Given the description of an element on the screen output the (x, y) to click on. 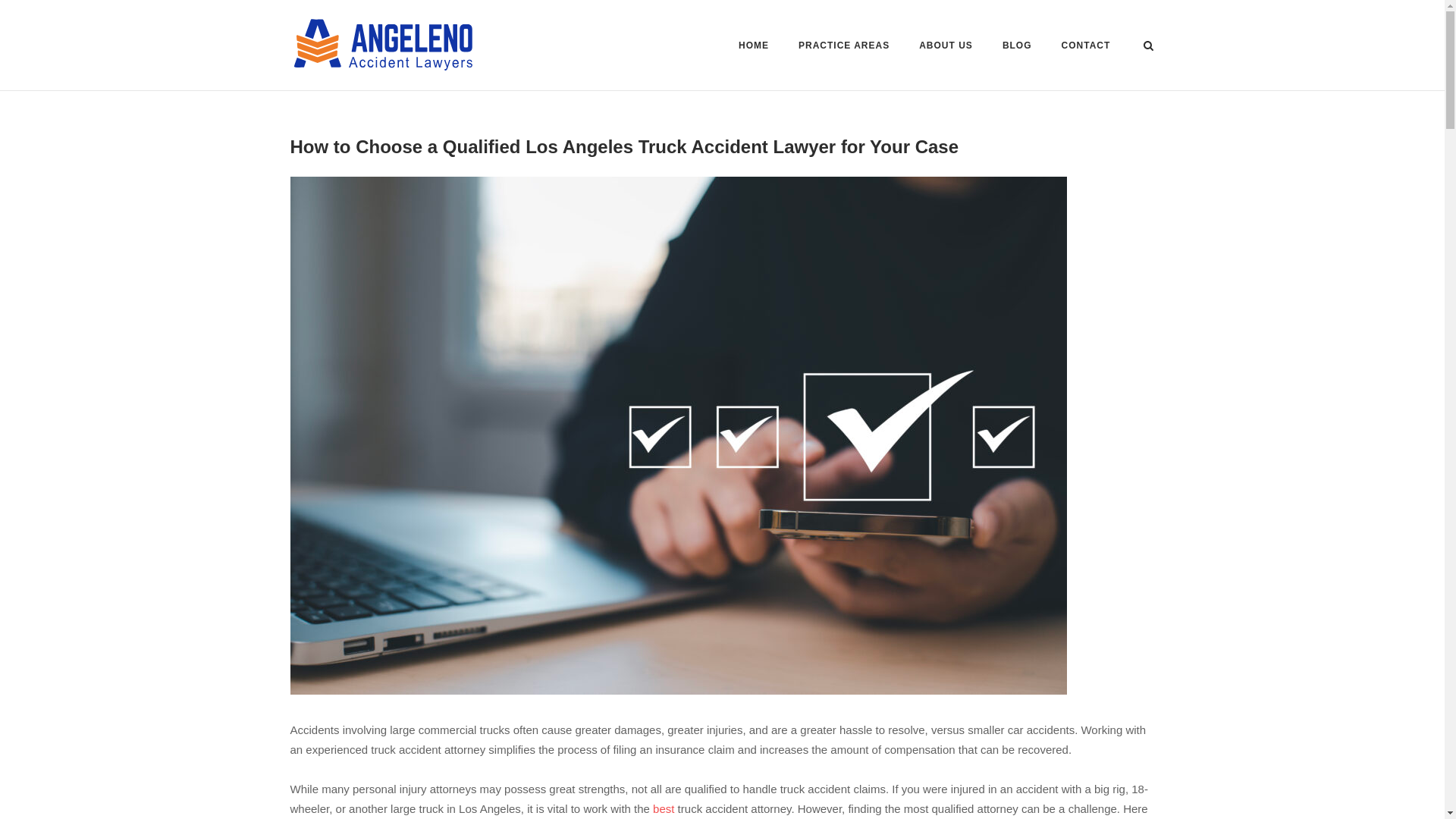
PRACTICE AREAS (843, 47)
best (663, 808)
ABOUT US (945, 47)
HOME (753, 48)
BLOG (1017, 48)
CONTACT (1085, 48)
